Given the description of an element on the screen output the (x, y) to click on. 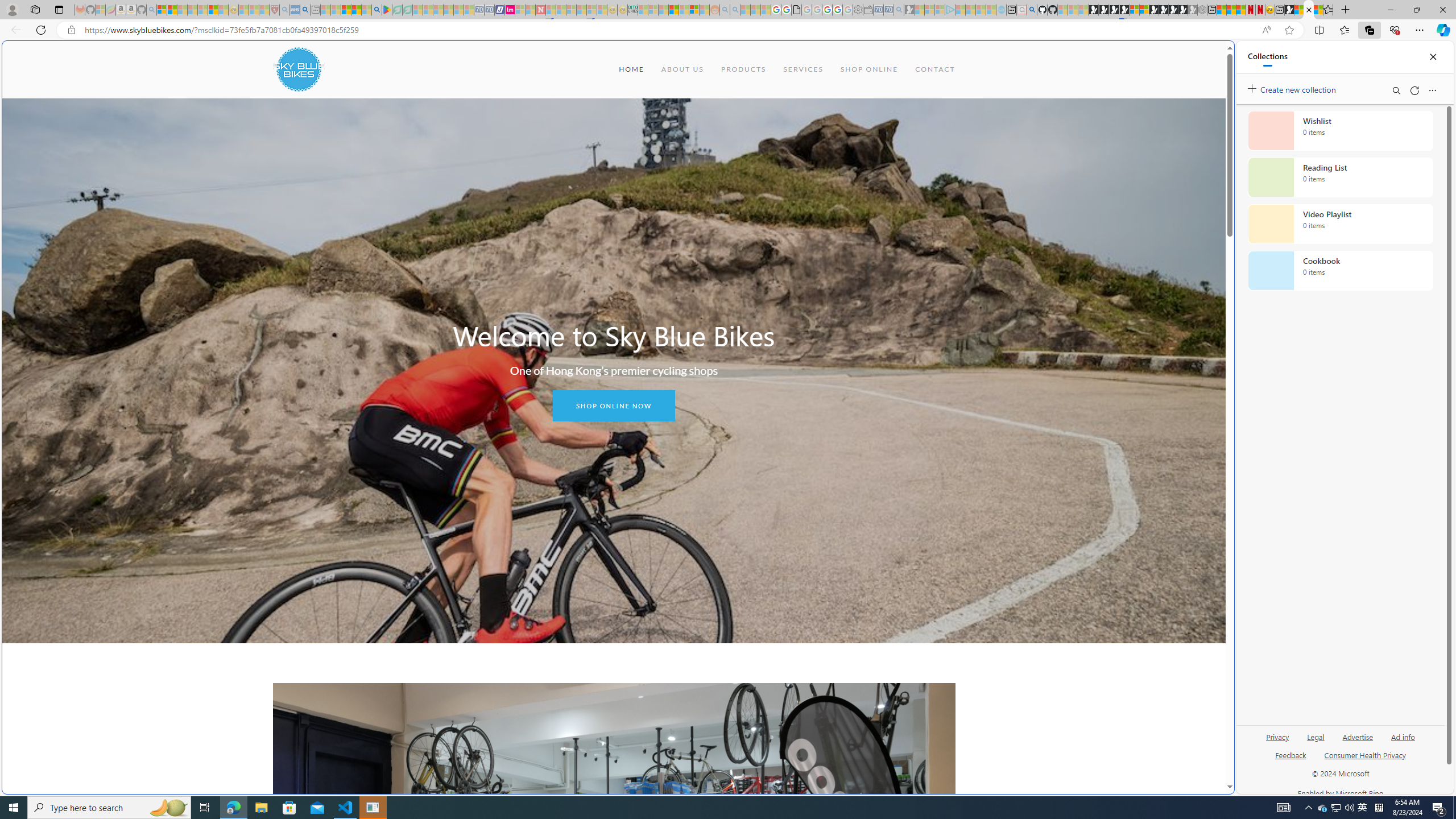
Pets - MSN (356, 9)
